Given the description of an element on the screen output the (x, y) to click on. 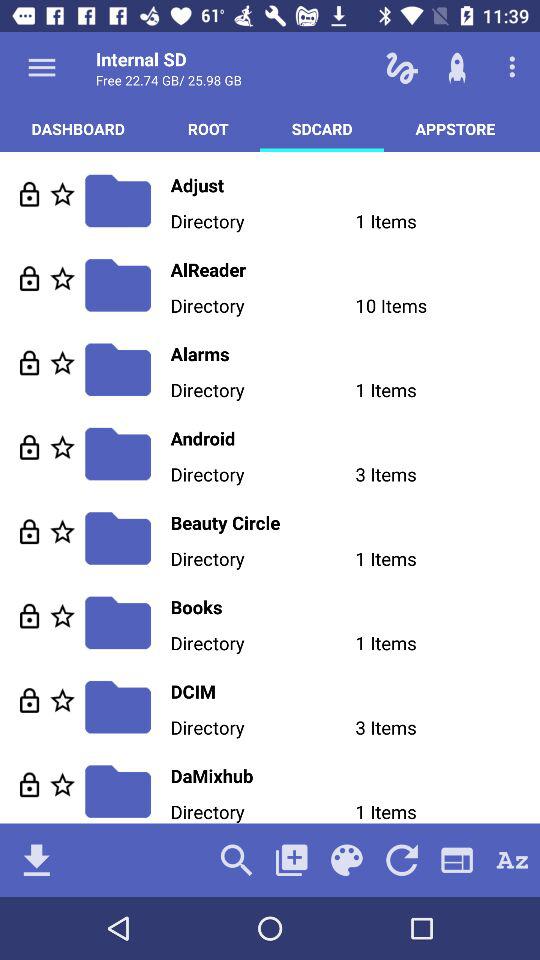
turn on the 10 items (447, 308)
